Given the description of an element on the screen output the (x, y) to click on. 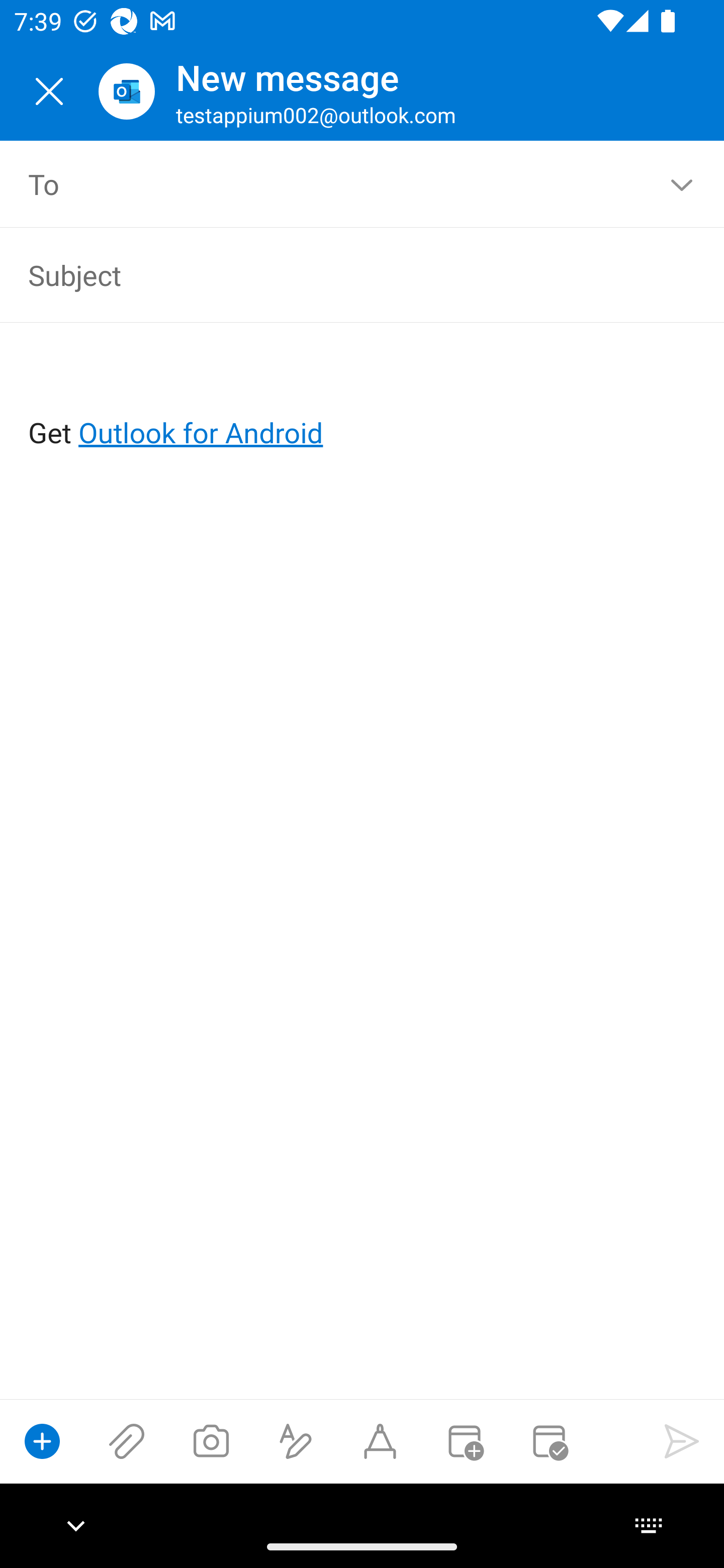
Close (49, 91)
Subject (333, 274)
Show compose options (42, 1440)
Attach files (126, 1440)
Take a photo (210, 1440)
Show formatting options (295, 1440)
Start Ink compose (380, 1440)
Convert to event (464, 1440)
Send availability (548, 1440)
Send (681, 1440)
